Given the description of an element on the screen output the (x, y) to click on. 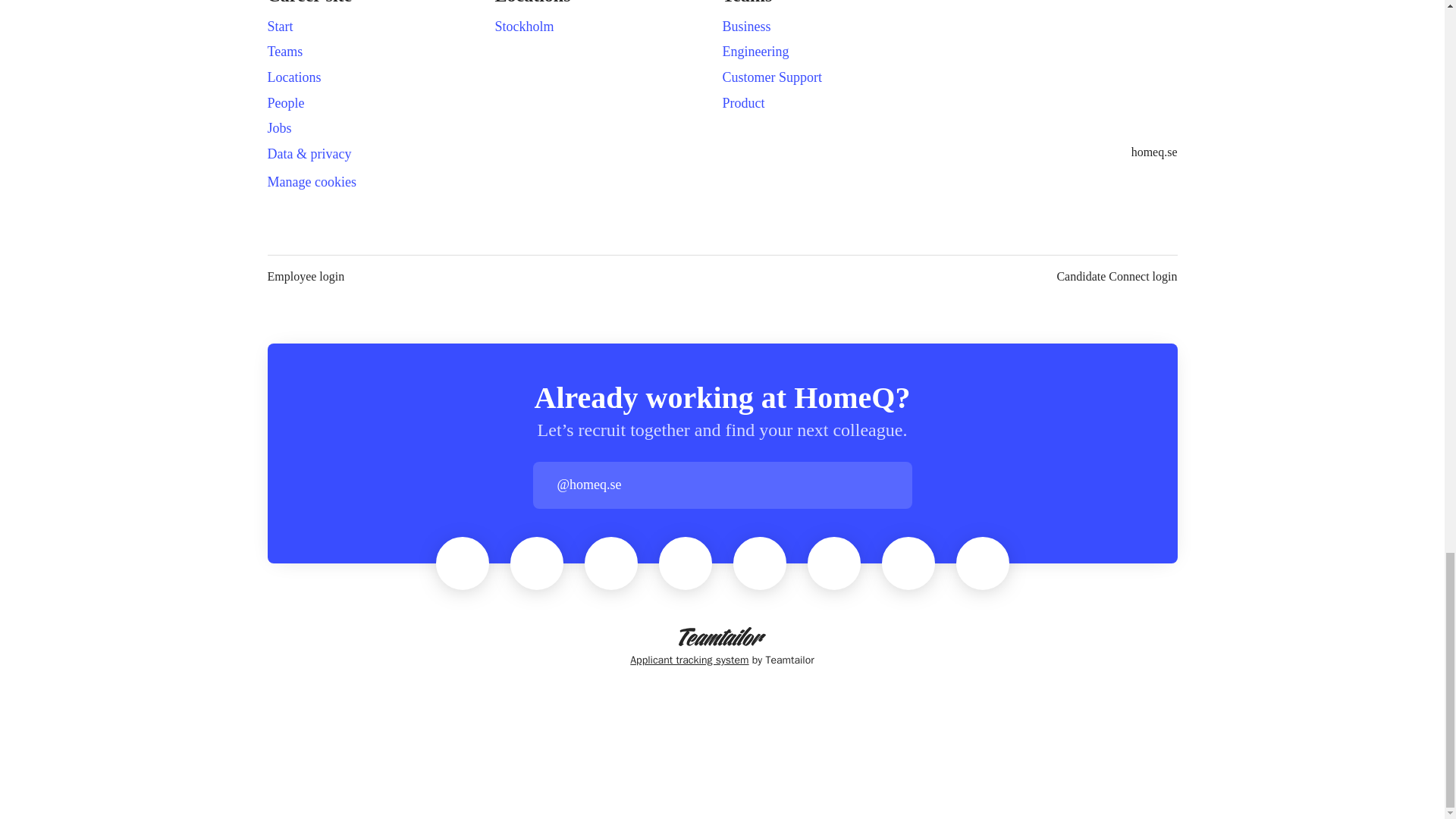
Business (746, 25)
Hawre Ahmadi (908, 563)
Teams (284, 51)
Customer Support (772, 76)
Jobs (278, 127)
Ignacio Lopez (834, 563)
homeq.se (1154, 152)
Pedro Ivo (759, 563)
Hedi Kurda (536, 563)
People (285, 102)
